Given the description of an element on the screen output the (x, y) to click on. 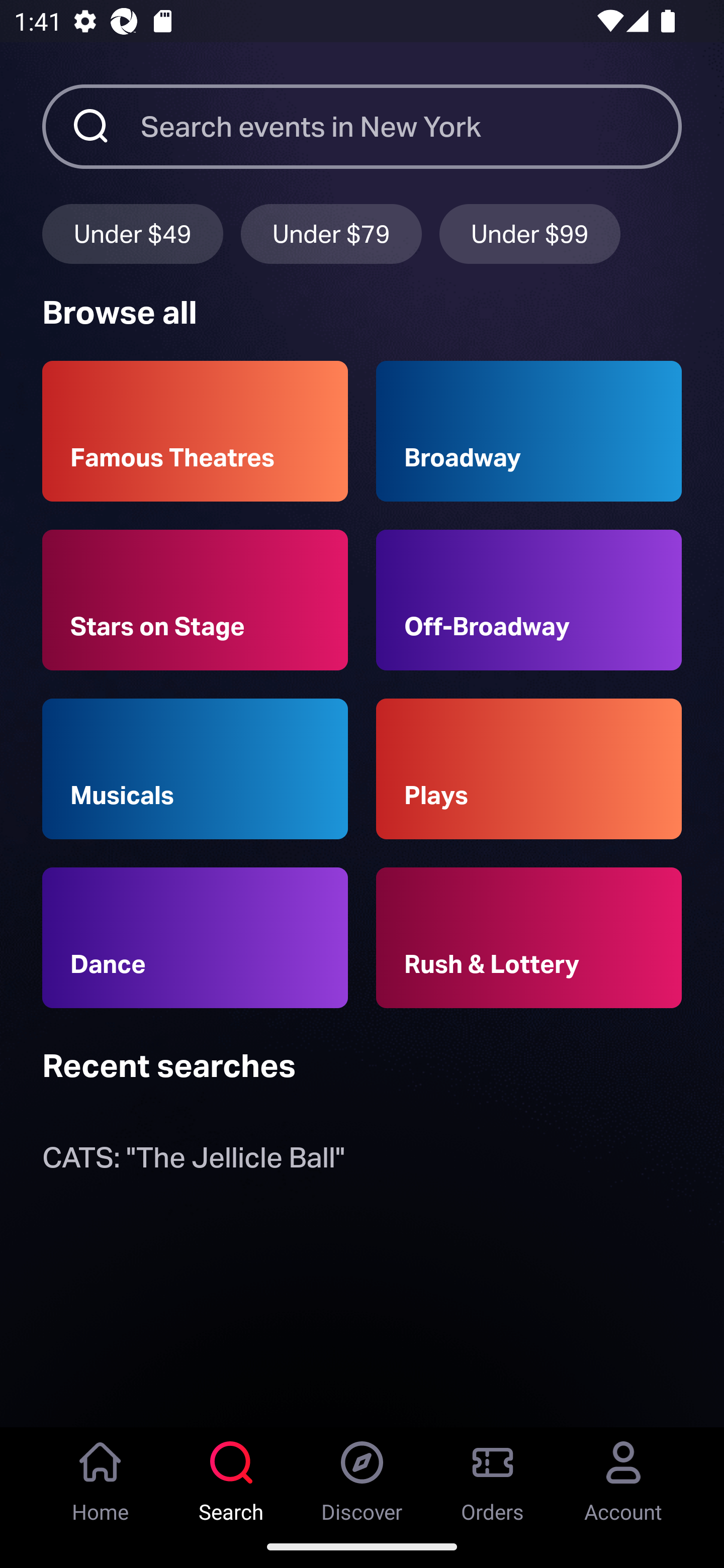
Search events in New York (411, 126)
Under $49 (131, 233)
Under $79 (331, 233)
Under $99 (529, 233)
Famous Theatres (194, 430)
Broadway (528, 430)
Stars on Stage (194, 600)
Off-Broadway (528, 600)
Musicals (194, 768)
Plays (528, 768)
Dance (194, 937)
Rush & Lottery (528, 937)
CATS: "The Jellicle Ball" (193, 1161)
Home (100, 1475)
Discover (361, 1475)
Orders (492, 1475)
Account (623, 1475)
